Given the description of an element on the screen output the (x, y) to click on. 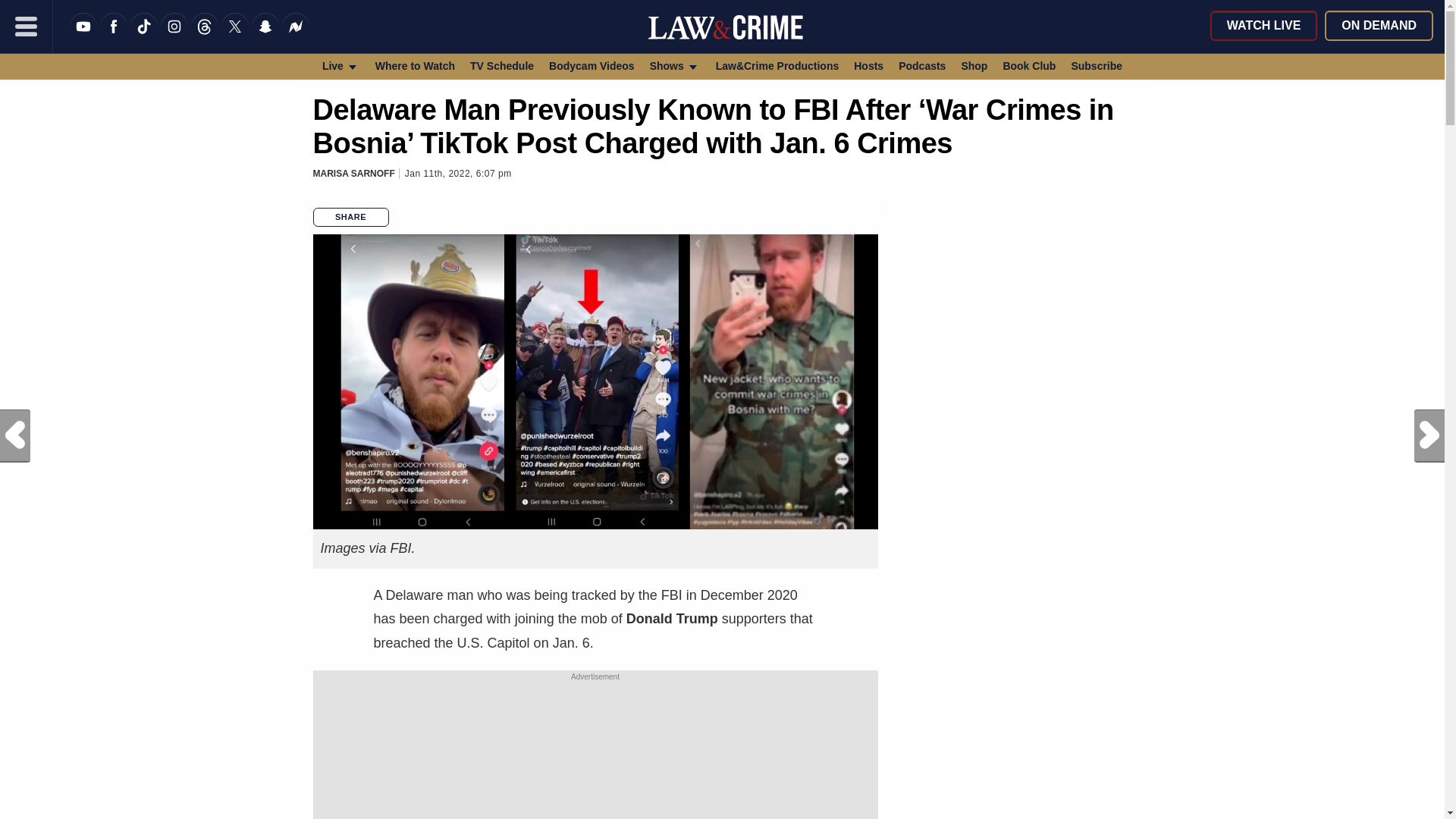
Like us on Facebook (114, 35)
Threads (204, 35)
Posts by Marisa Sarnoff (353, 173)
TikTok (144, 35)
YouTube (83, 35)
Instagram (173, 35)
Snapchat (265, 35)
News Break (295, 35)
